Given the description of an element on the screen output the (x, y) to click on. 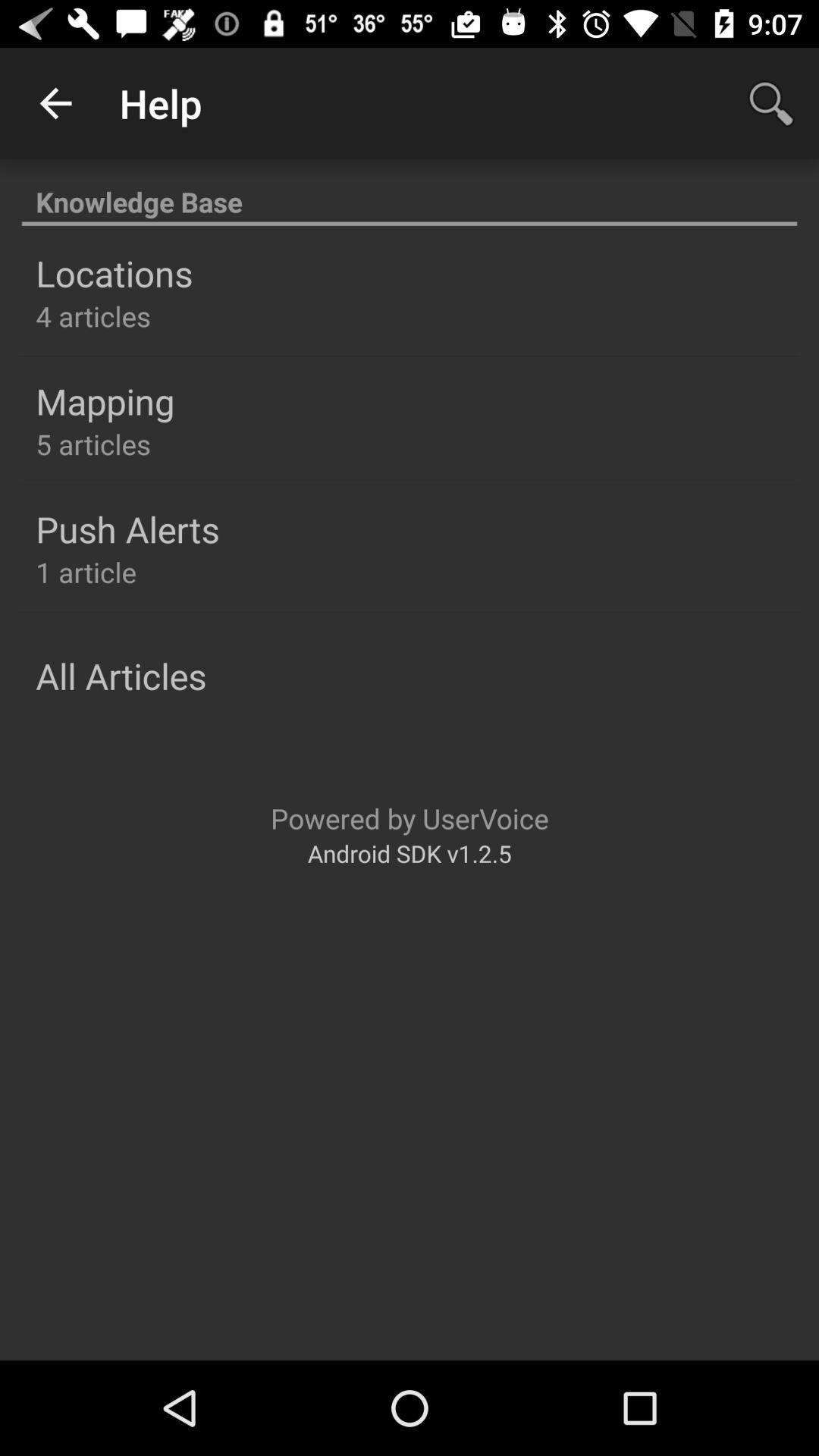
click the item below all articles (409, 818)
